Given the description of an element on the screen output the (x, y) to click on. 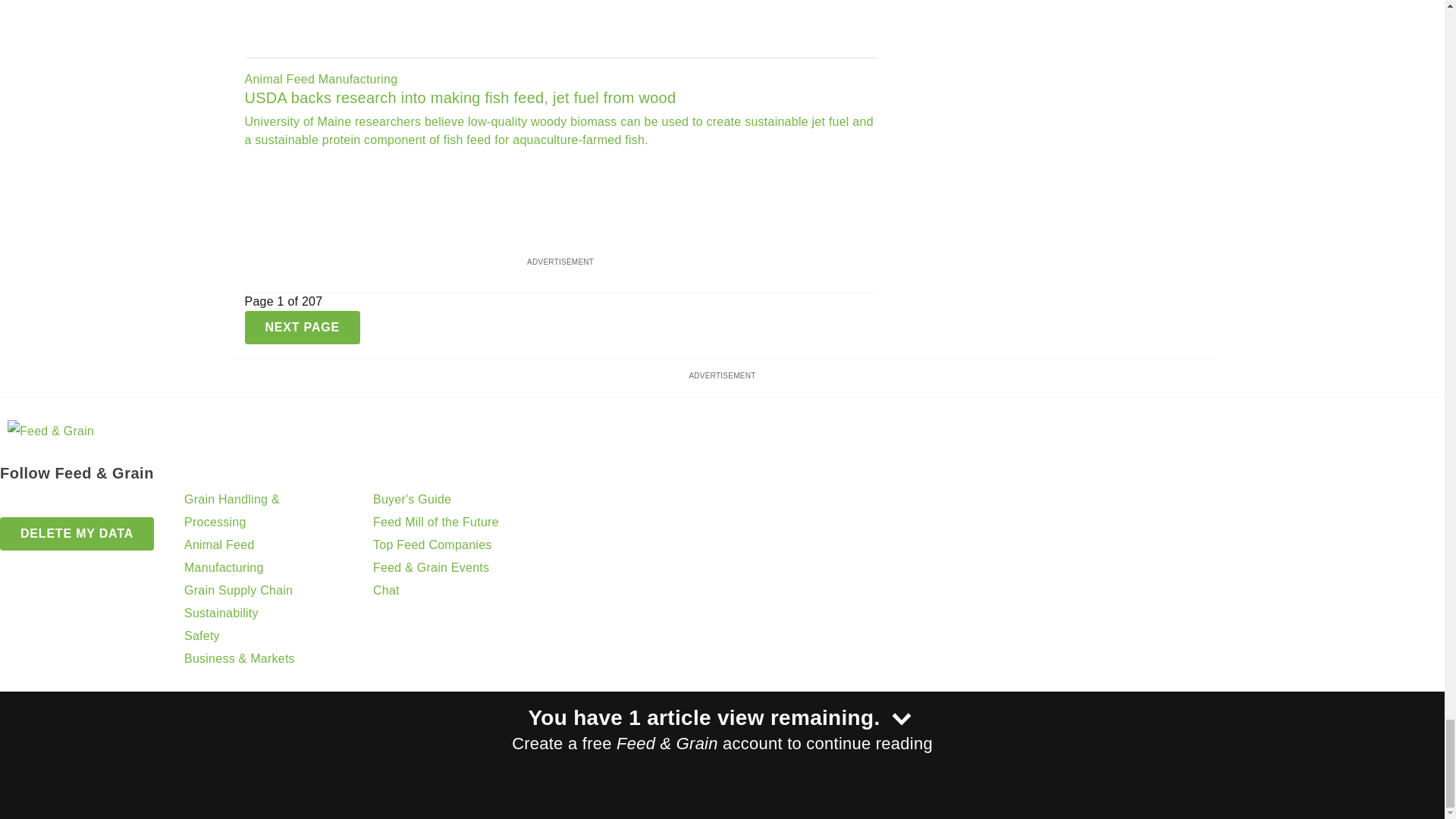
YouTube icon (90, 502)
LinkedIn icon (52, 502)
Facebook icon (13, 502)
